Given the description of an element on the screen output the (x, y) to click on. 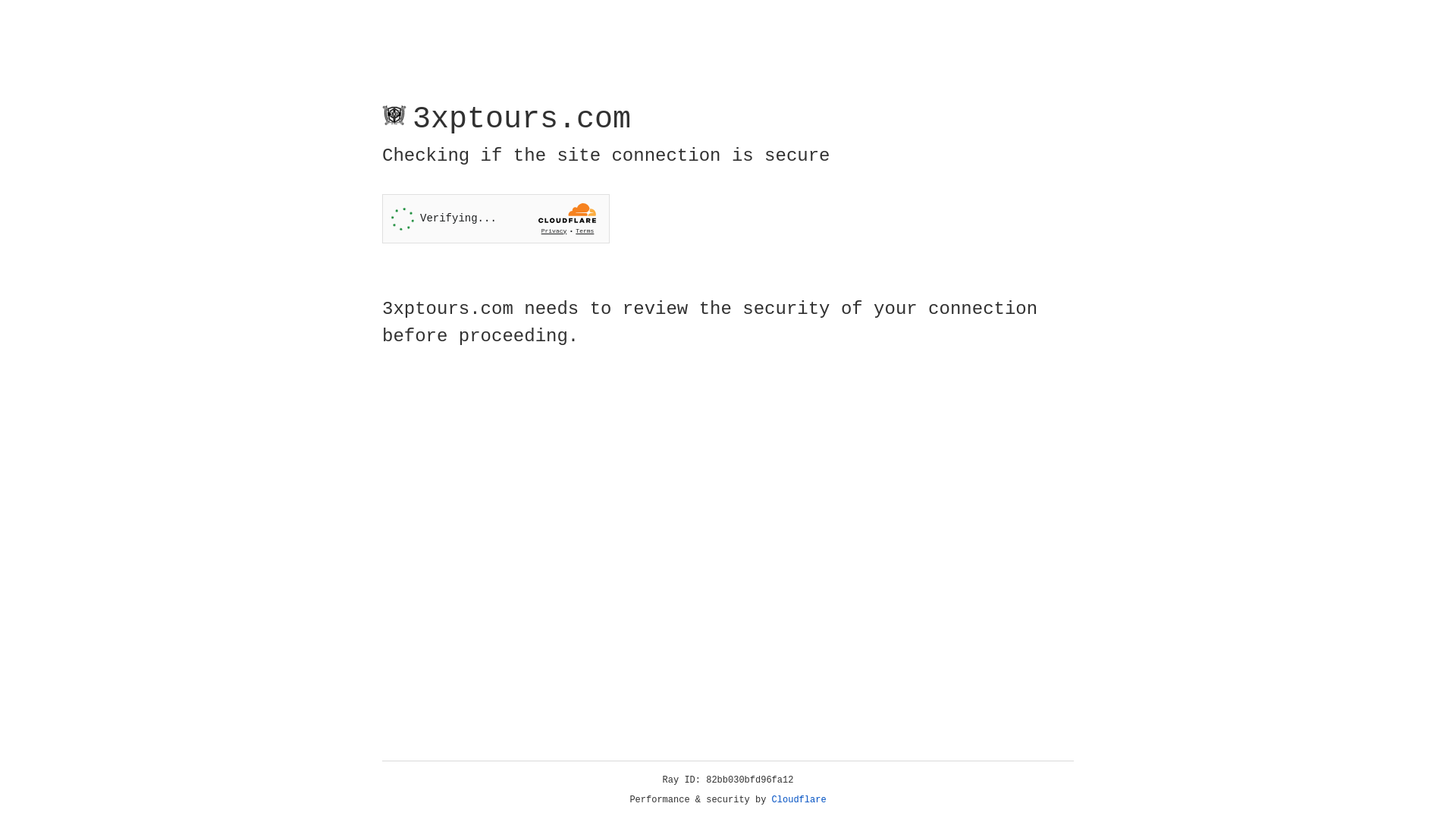
Cloudflare Element type: text (798, 799)
Widget containing a Cloudflare security challenge Element type: hover (495, 218)
